Given the description of an element on the screen output the (x, y) to click on. 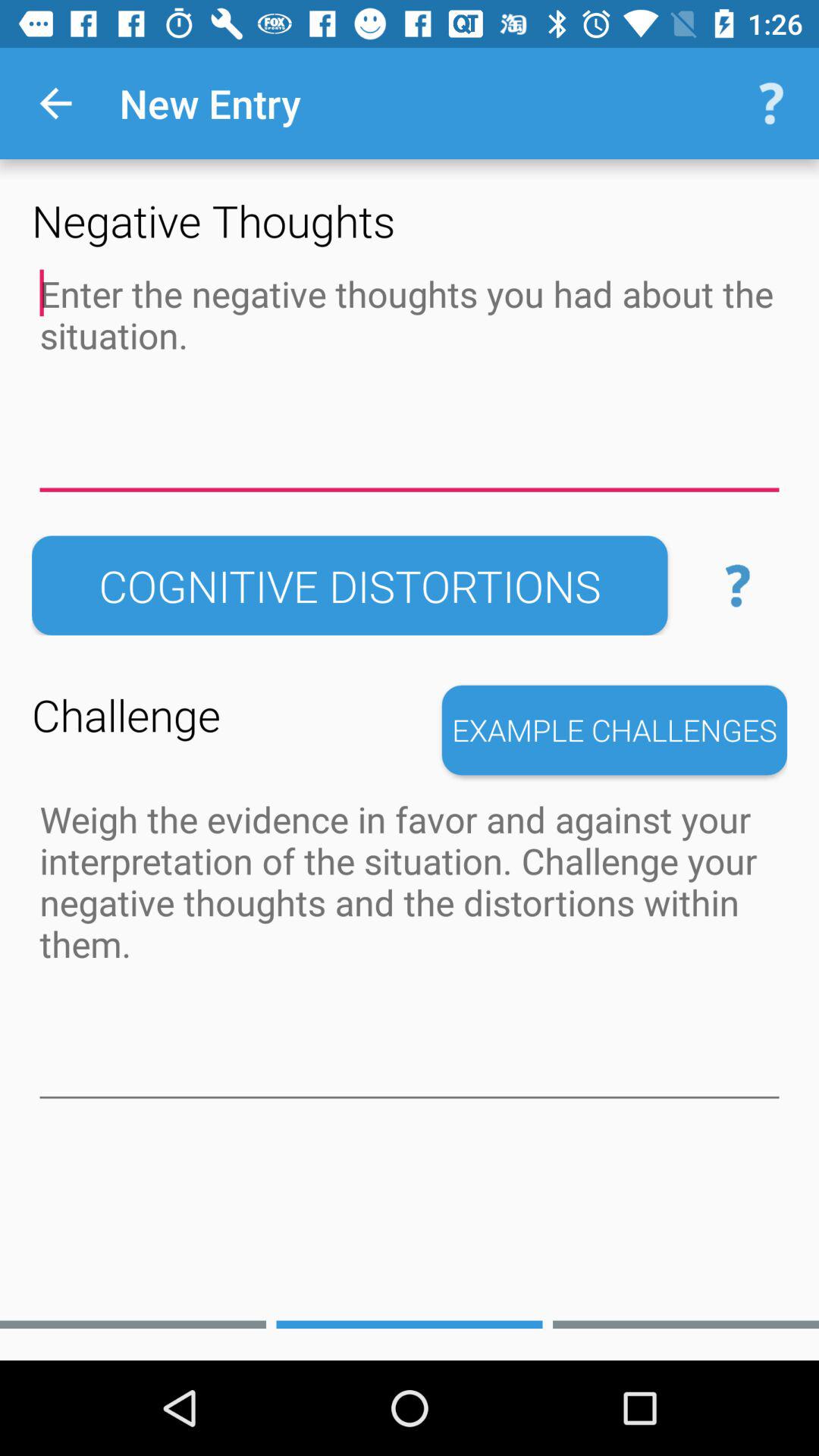
select icon to the left of the new entry item (55, 103)
